Given the description of an element on the screen output the (x, y) to click on. 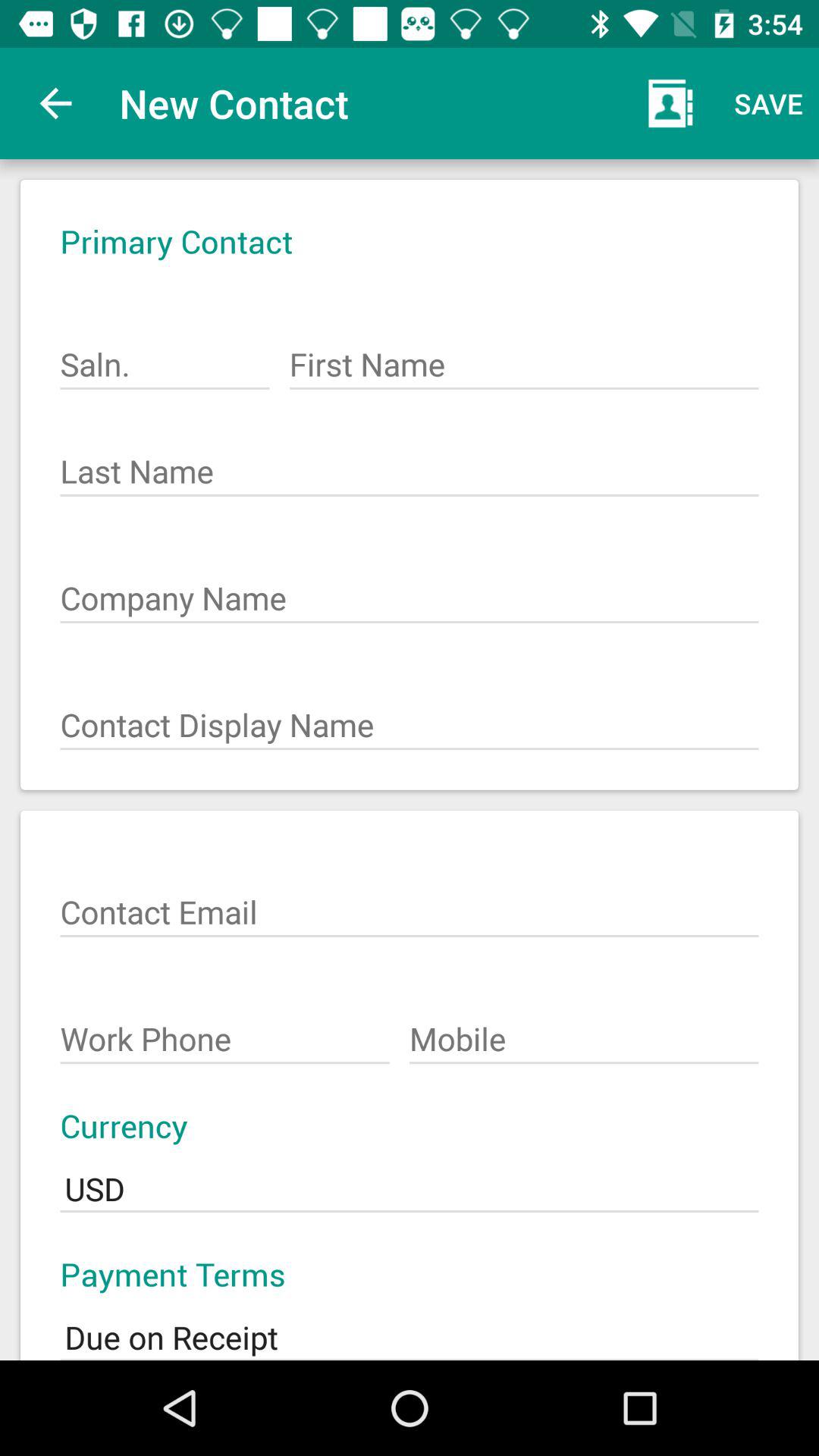
turn off the item above the primary contact item (55, 103)
